Given the description of an element on the screen output the (x, y) to click on. 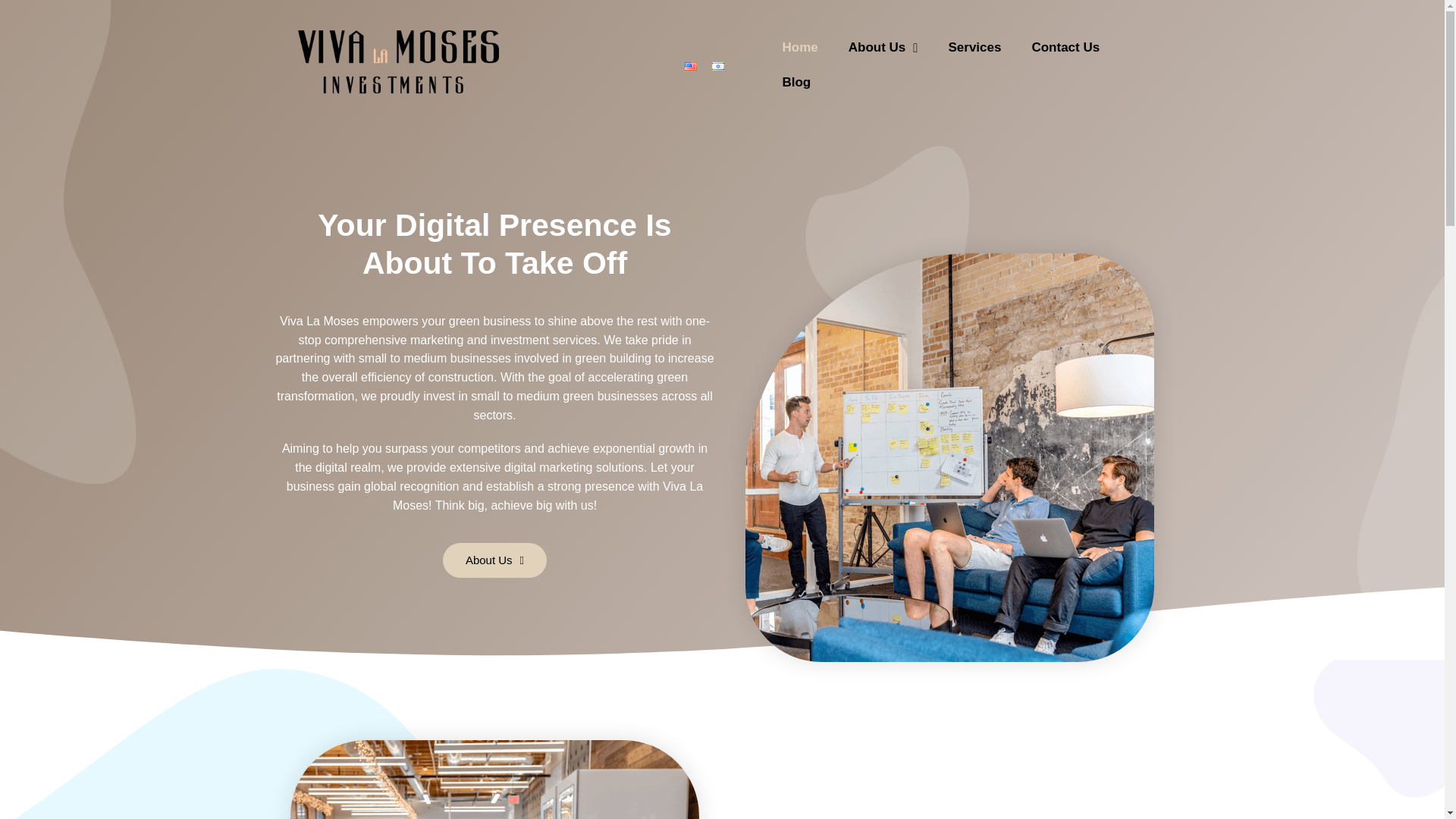
About Us (494, 509)
green business (489, 241)
digital marketing solutions (573, 408)
Contact Us (1065, 47)
Blog (796, 82)
Home (799, 47)
Services (974, 47)
About Us (882, 47)
medium businesses (457, 289)
